Given the description of an element on the screen output the (x, y) to click on. 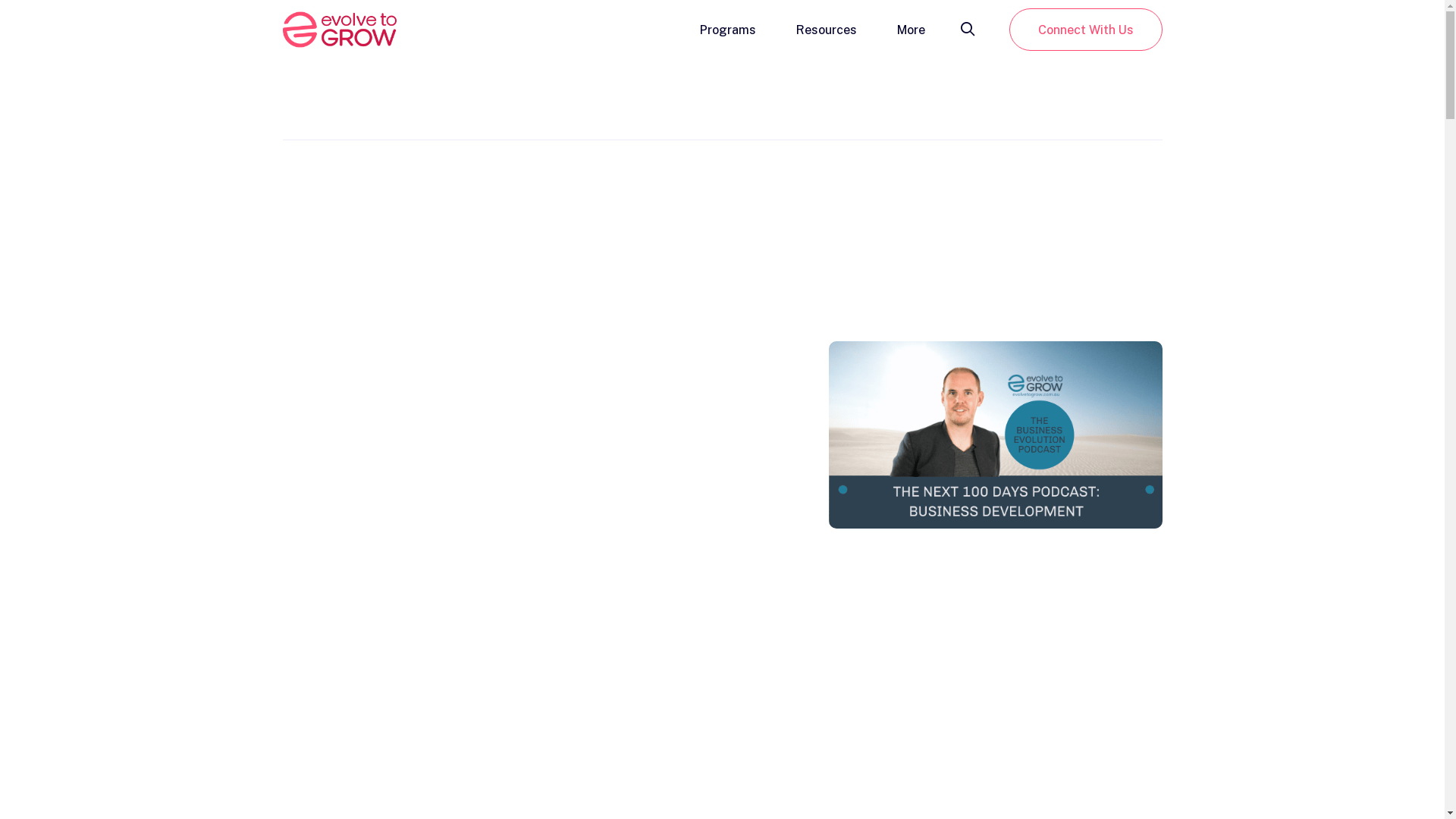
Programs Element type: text (727, 29)
More Element type: text (910, 29)
Connect With Us Element type: text (1084, 29)
Business Development Element type: hover (994, 435)
Evolve Logo Element type: hover (338, 29)
Resources Element type: text (826, 29)
